Given the description of an element on the screen output the (x, y) to click on. 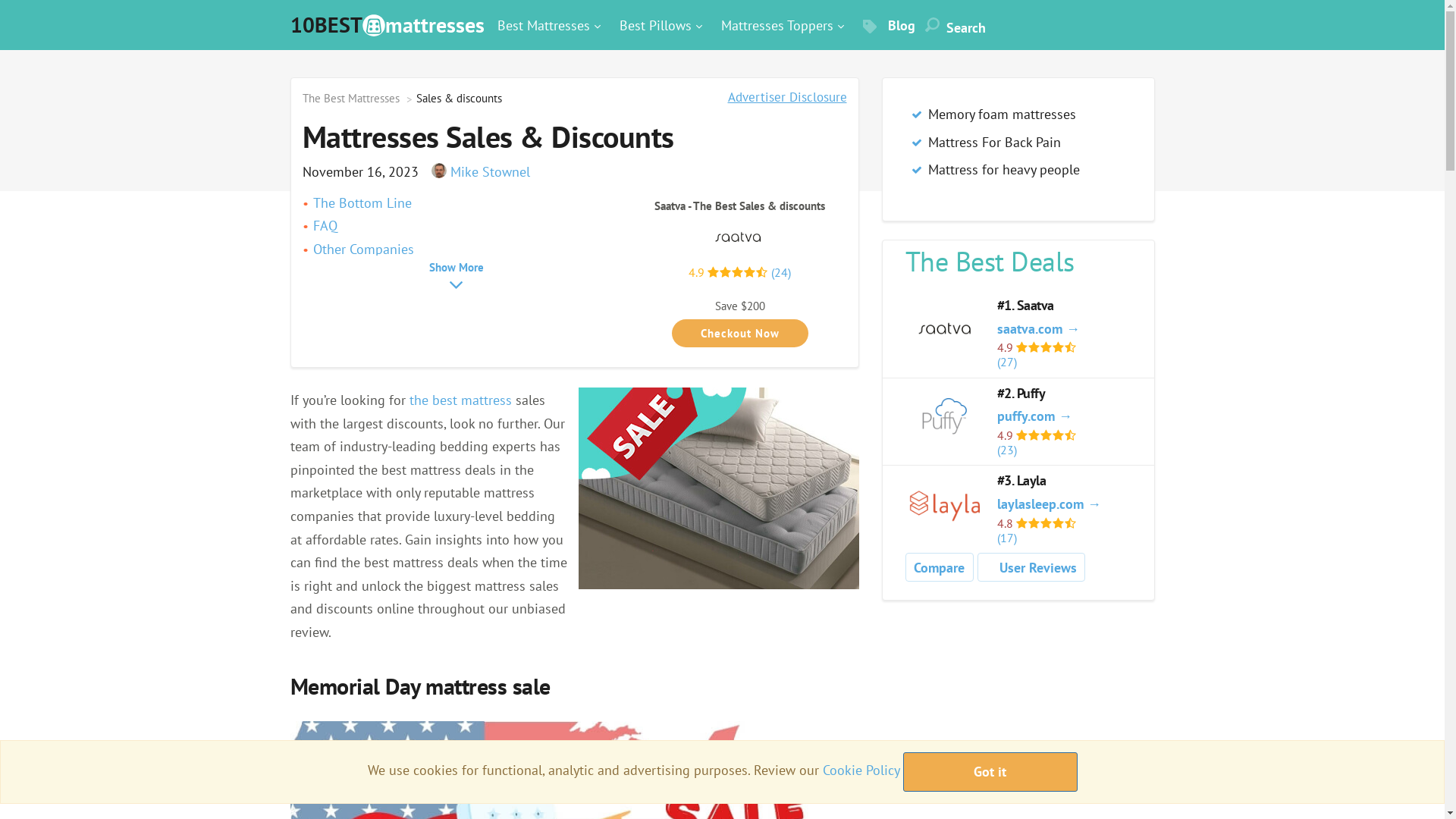
Sales & discounts Element type: hover (717, 488)
Best Pillows Element type: text (657, 26)
Compare Element type: text (938, 567)
Memory foam mattresses Element type: text (1002, 113)
Mattress for heavy people Element type: text (1003, 169)
Mattress For Back Pain Element type: text (994, 141)
Best Mattresses Element type: text (546, 26)
Other Companies Element type: text (362, 248)
The Best Mattresses Element type: text (349, 98)
the best mattress Element type: text (460, 399)
Mattresses Toppers Element type: text (779, 26)
Checkout Now Element type: text (739, 333)
Got it Element type: text (989, 771)
(24) Element type: text (780, 271)
10BESTmattresses Element type: text (386, 24)
Blog Element type: text (888, 27)
(23) Element type: text (1064, 449)
(17) Element type: text (1064, 537)
User Reviews Element type: text (1030, 568)
The Bottom Line Element type: text (361, 202)
Cookie Policy Element type: text (860, 770)
(27) Element type: text (1064, 361)
Mike Stownel Element type: hover (437, 170)
Mike Stownel Element type: text (479, 171)
FAQ Element type: text (324, 225)
